Given the description of an element on the screen output the (x, y) to click on. 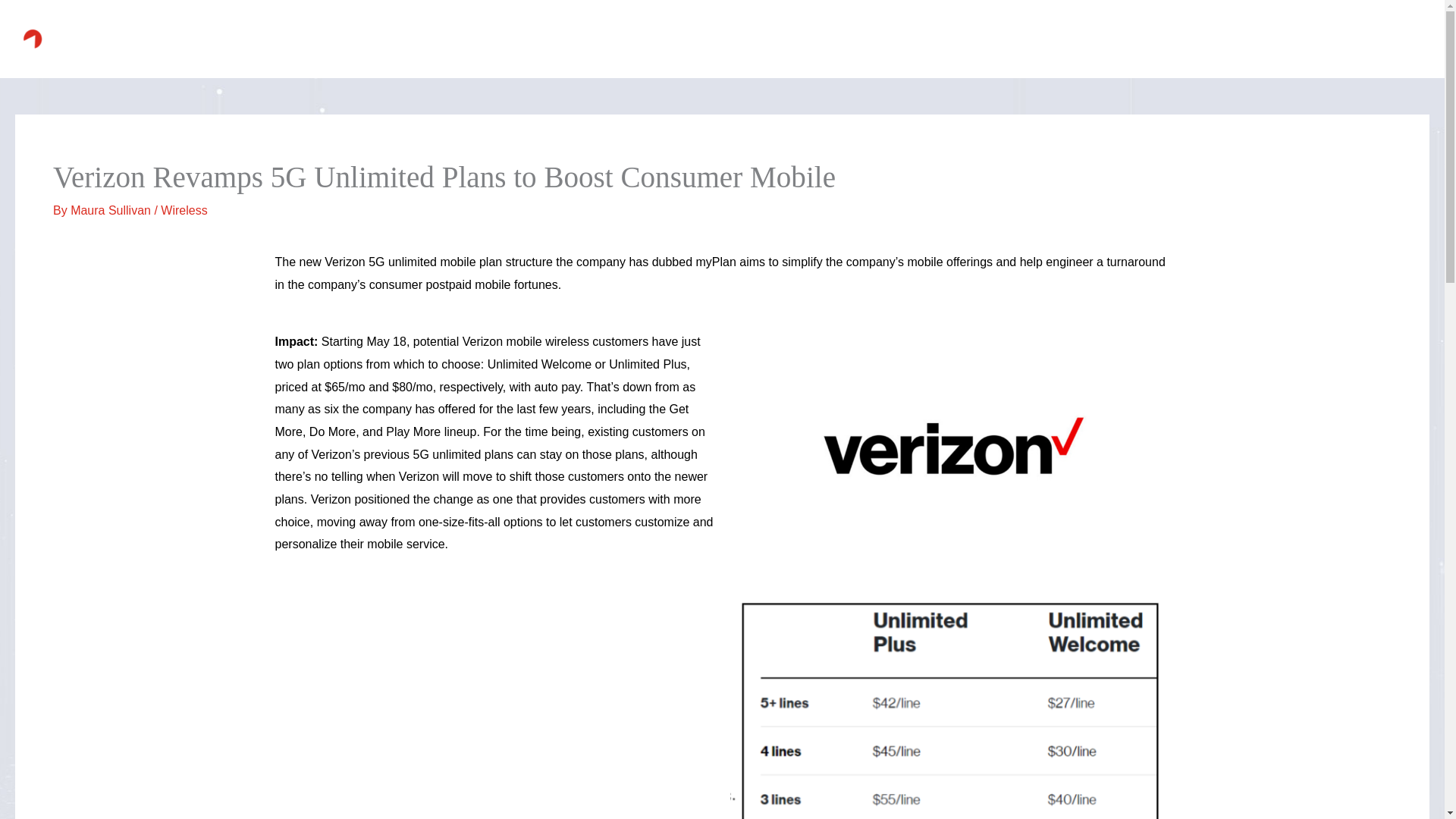
Who We Are (933, 38)
Insights (1329, 38)
Wireless (183, 210)
Contact (1396, 38)
Telecommunications (1166, 38)
Portals (1265, 38)
Video Intelligence (1038, 38)
Maura Sullivan (111, 210)
View all posts by Maura Sullivan (111, 210)
